Given the description of an element on the screen output the (x, y) to click on. 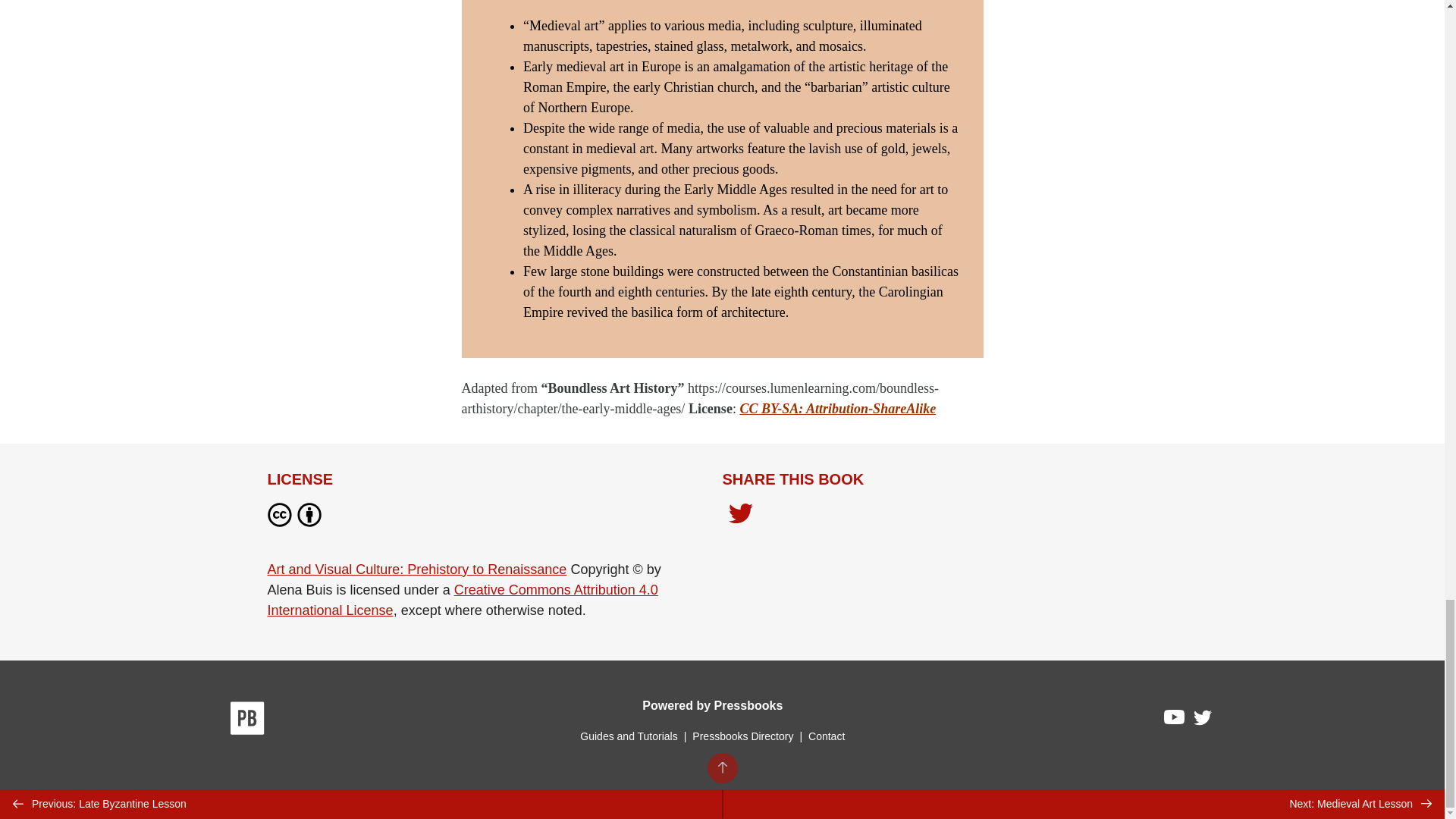
Share on Twitter (740, 517)
Pressbooks Directory (742, 736)
CC BY-SA: Attribution-ShareAlike (837, 408)
Pressbooks on YouTube (1174, 721)
Art and Visual Culture: Prehistory to Renaissance (416, 569)
Creative Commons Attribution 4.0 International License (462, 600)
Contact (826, 736)
Share on Twitter (740, 514)
Guides and Tutorials (627, 736)
Powered by Pressbooks (712, 705)
